Given the description of an element on the screen output the (x, y) to click on. 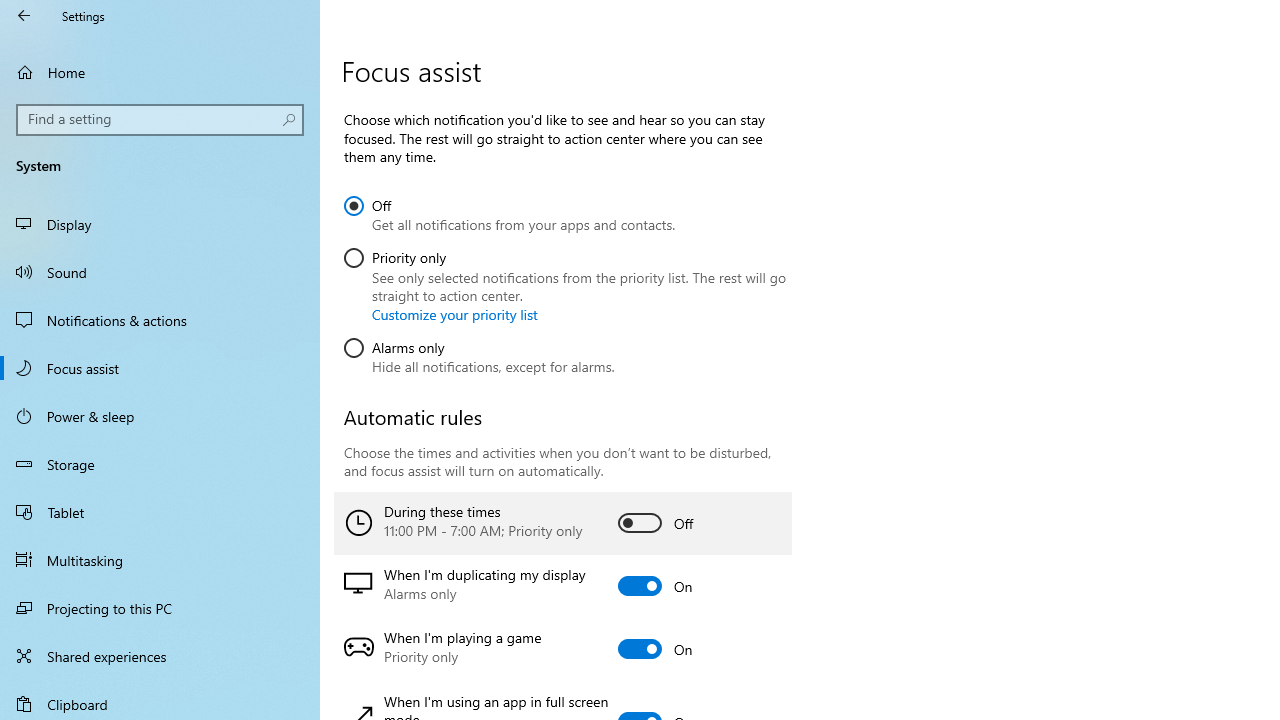
During these times (563, 523)
Projecting to this PC (160, 607)
Notifications & actions (160, 319)
Shared experiences (160, 655)
When I'm duplicating my display (563, 586)
